Given the description of an element on the screen output the (x, y) to click on. 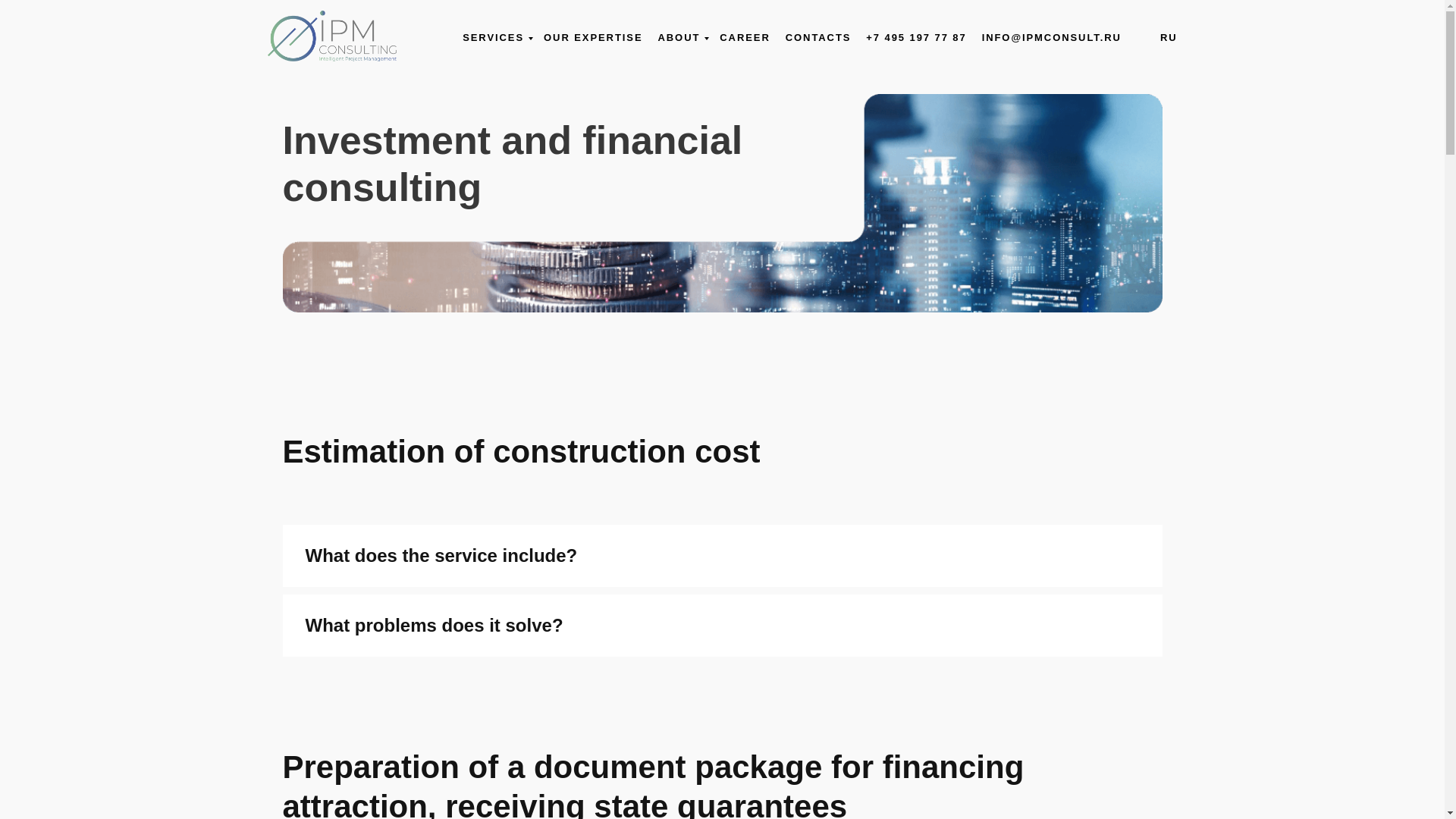
CAREER (744, 37)
CONTACTS (818, 37)
OUR EXPERTISE (592, 37)
RU (1168, 37)
ABOUT (681, 37)
SERVICES (495, 37)
